Given the description of an element on the screen output the (x, y) to click on. 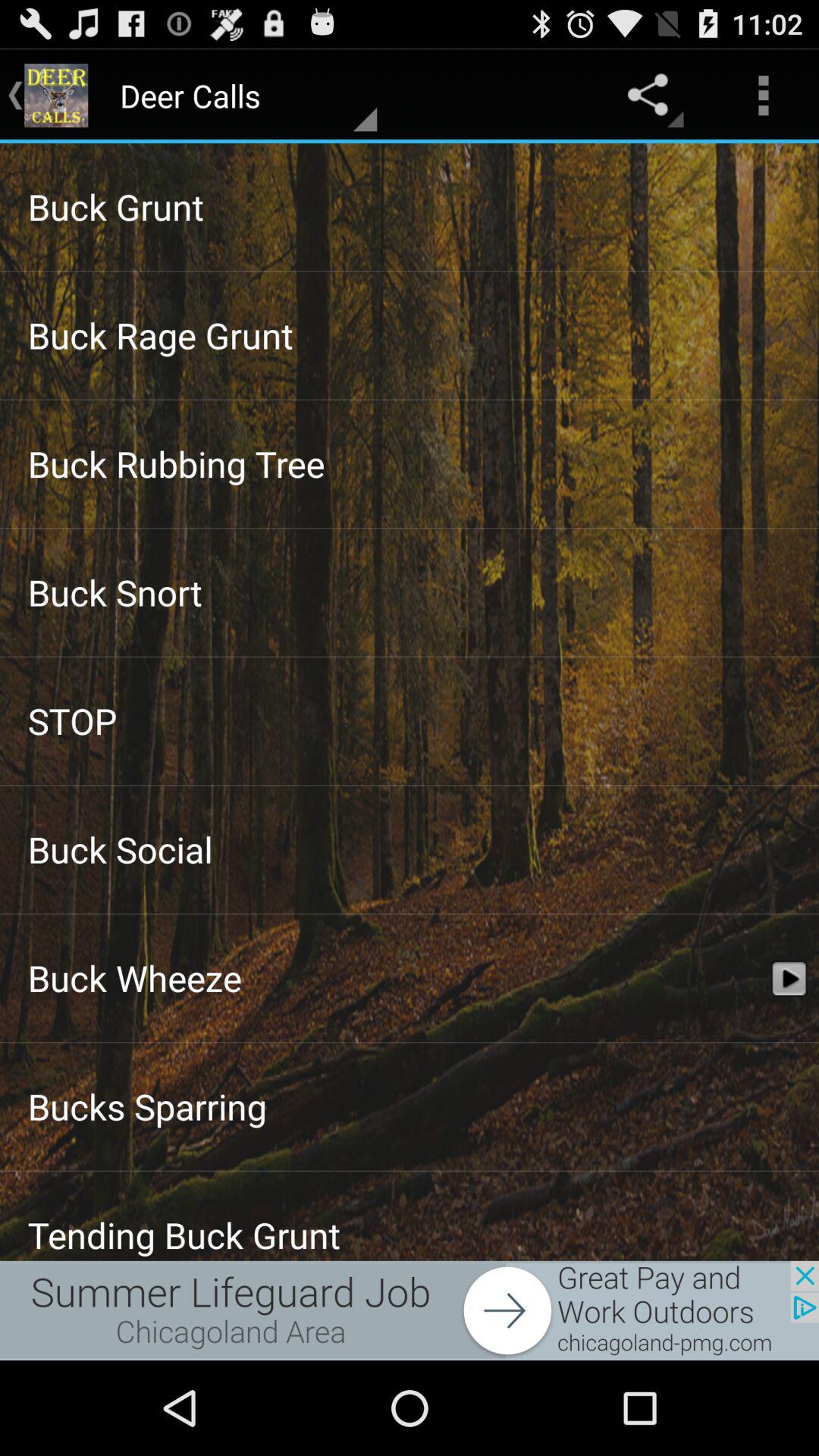
advertisement area (409, 1310)
